Given the description of an element on the screen output the (x, y) to click on. 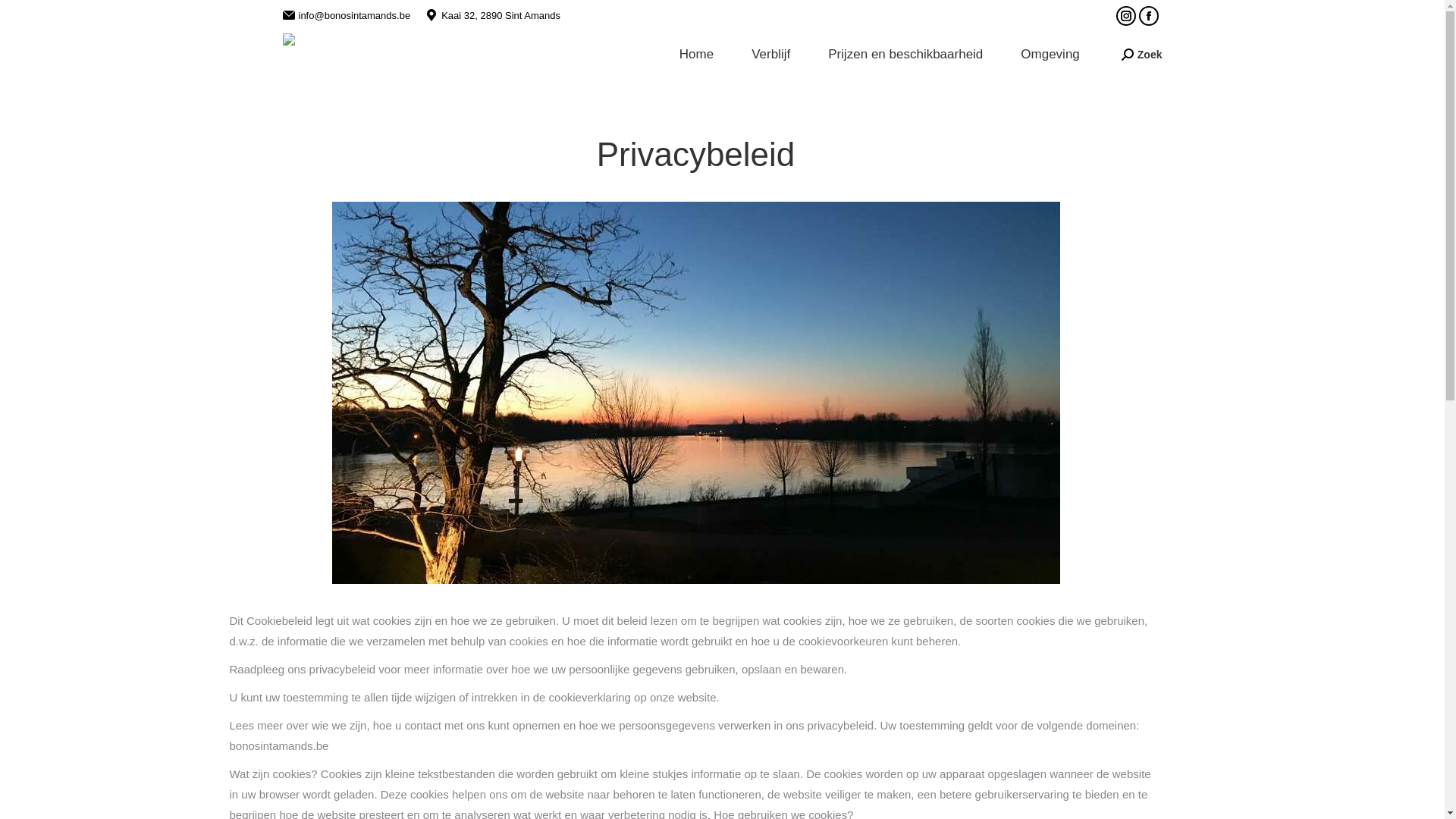
Home Element type: text (696, 54)
Instagram page opens in new window Element type: text (1125, 15)
Go! Element type: text (23, 16)
Zoek Element type: text (1141, 53)
Facebook page opens in new window Element type: text (1148, 15)
Prijzen en beschikbaarheid Element type: text (904, 54)
Omgeving Element type: text (1049, 54)
Verblijf Element type: text (770, 54)
